Given the description of an element on the screen output the (x, y) to click on. 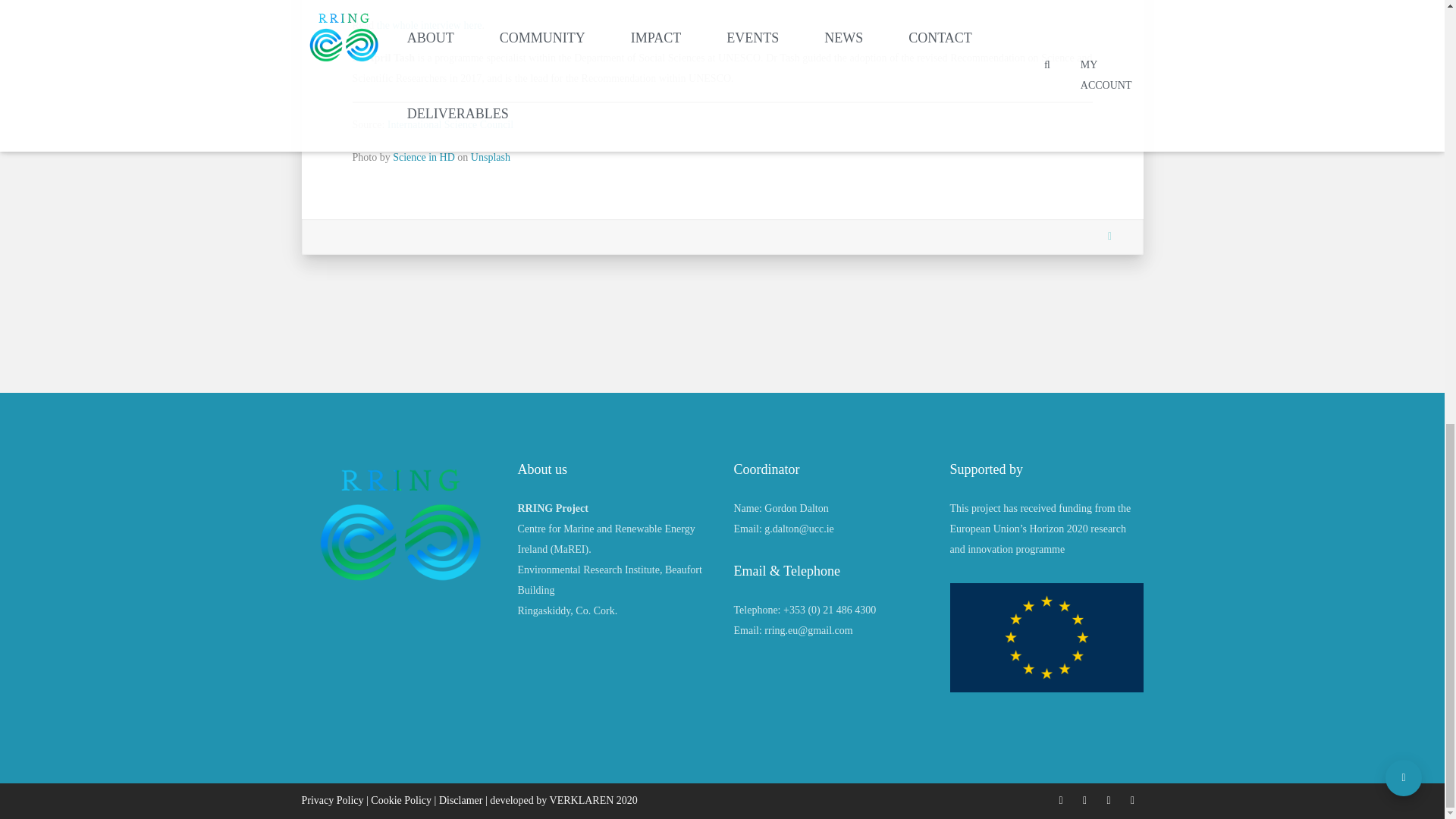
the whole interview here (429, 25)
Cookie Policy (400, 799)
International Science Council (448, 124)
Science in HD (423, 156)
Privacy Policy (332, 799)
Disclamer (461, 799)
Unsplash (490, 156)
